Given the description of an element on the screen output the (x, y) to click on. 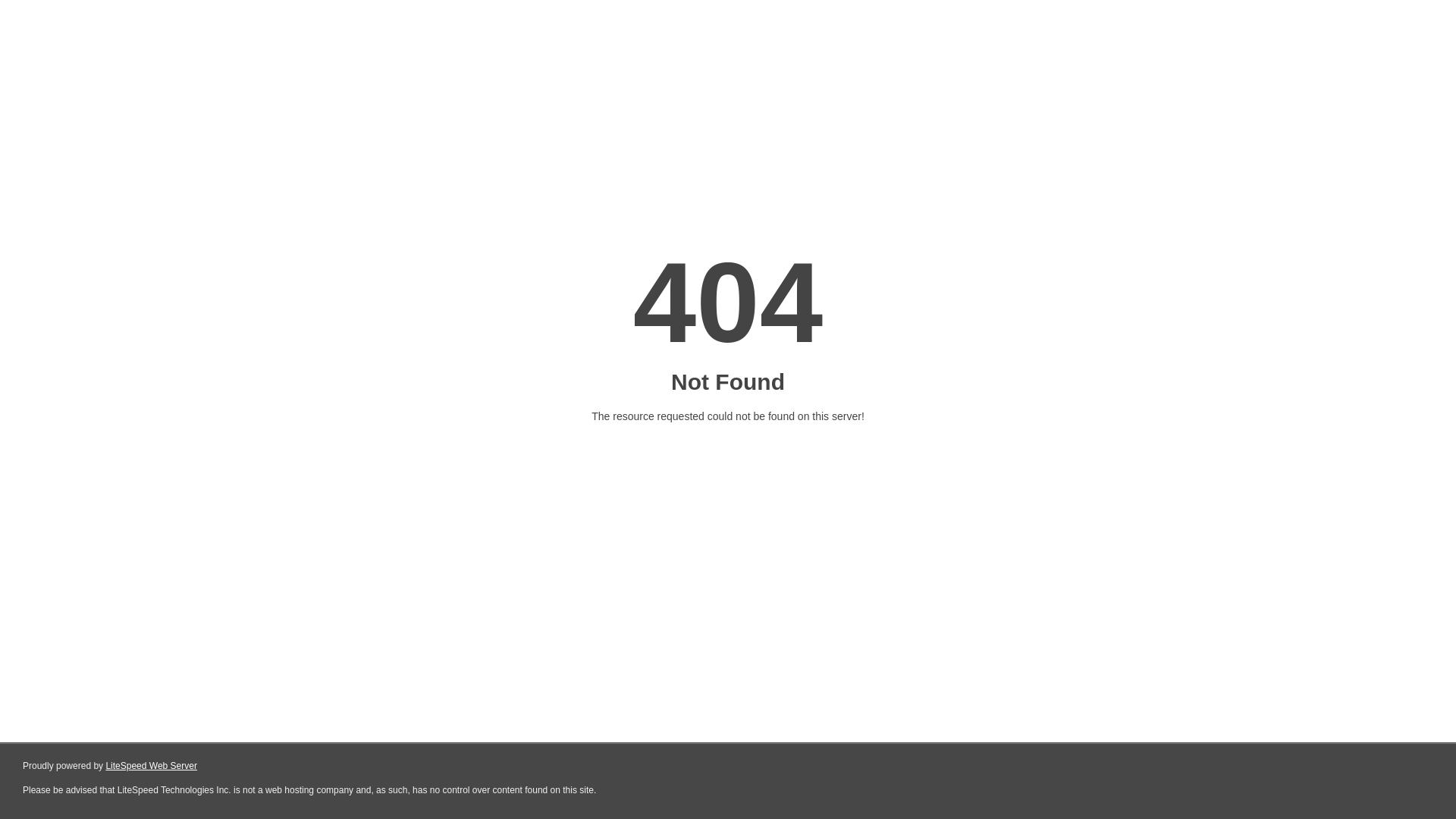
LiteSpeed Web Server Element type: text (151, 765)
